Given the description of an element on the screen output the (x, y) to click on. 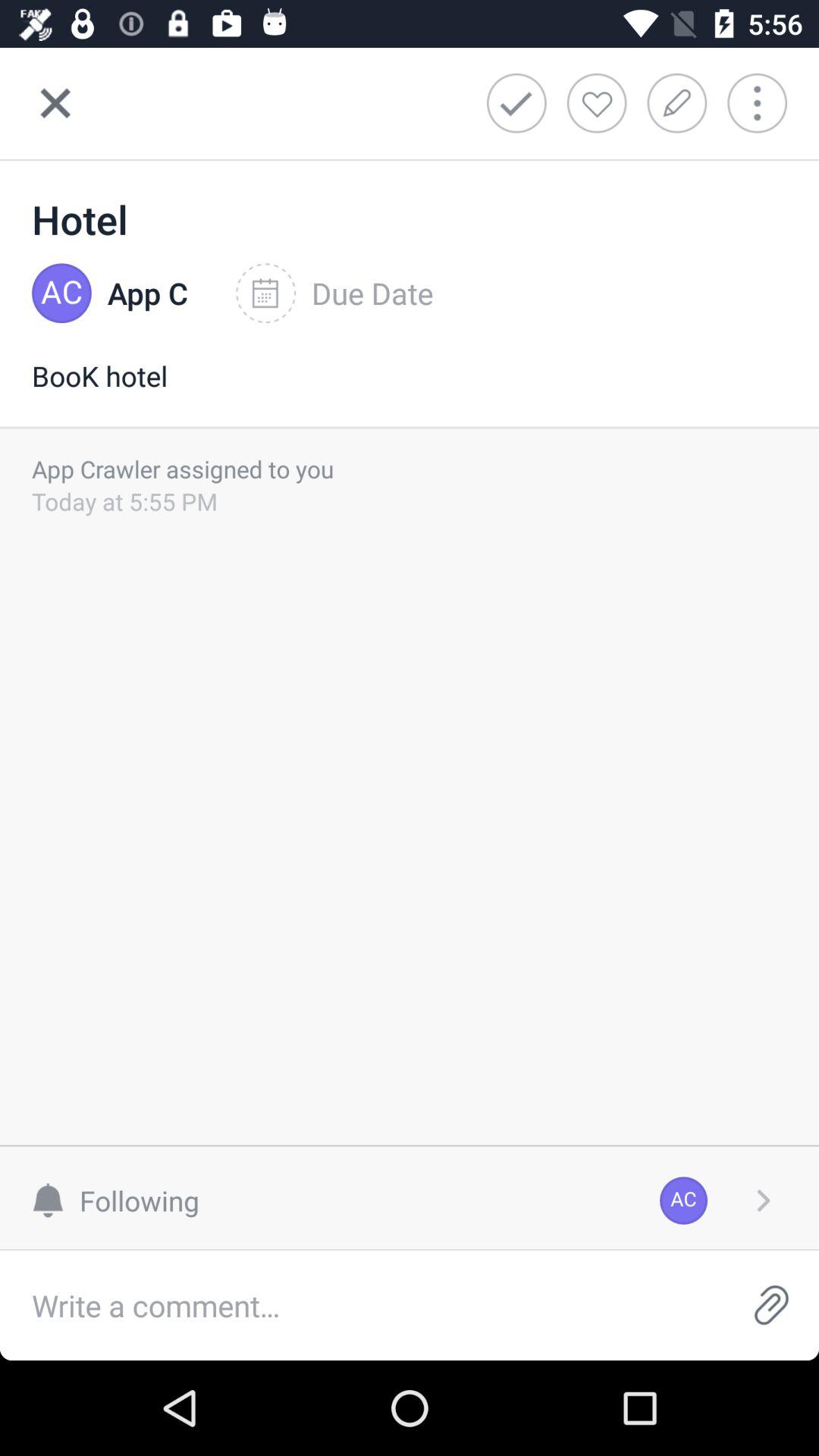
edit taks (682, 103)
